Given the description of an element on the screen output the (x, y) to click on. 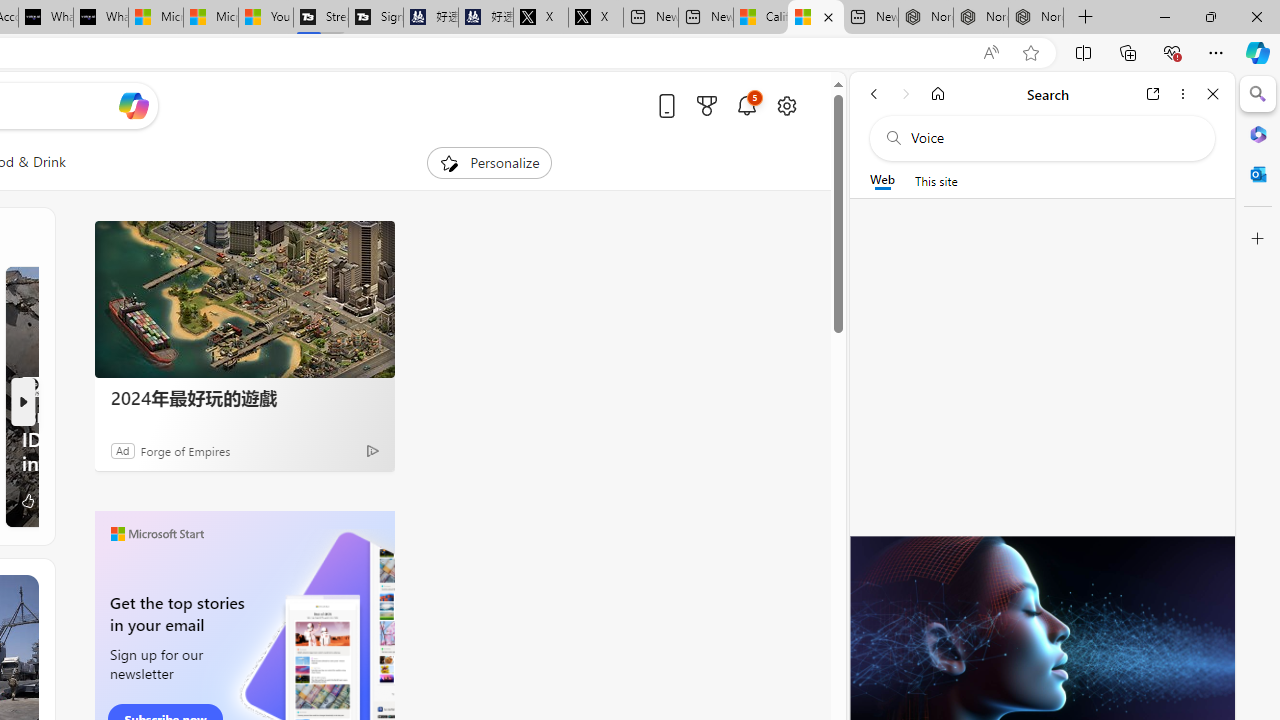
Nordace Siena Pro 15 Backpack (980, 17)
Personalize (488, 162)
Microsoft 365 (1258, 133)
